Given the description of an element on the screen output the (x, y) to click on. 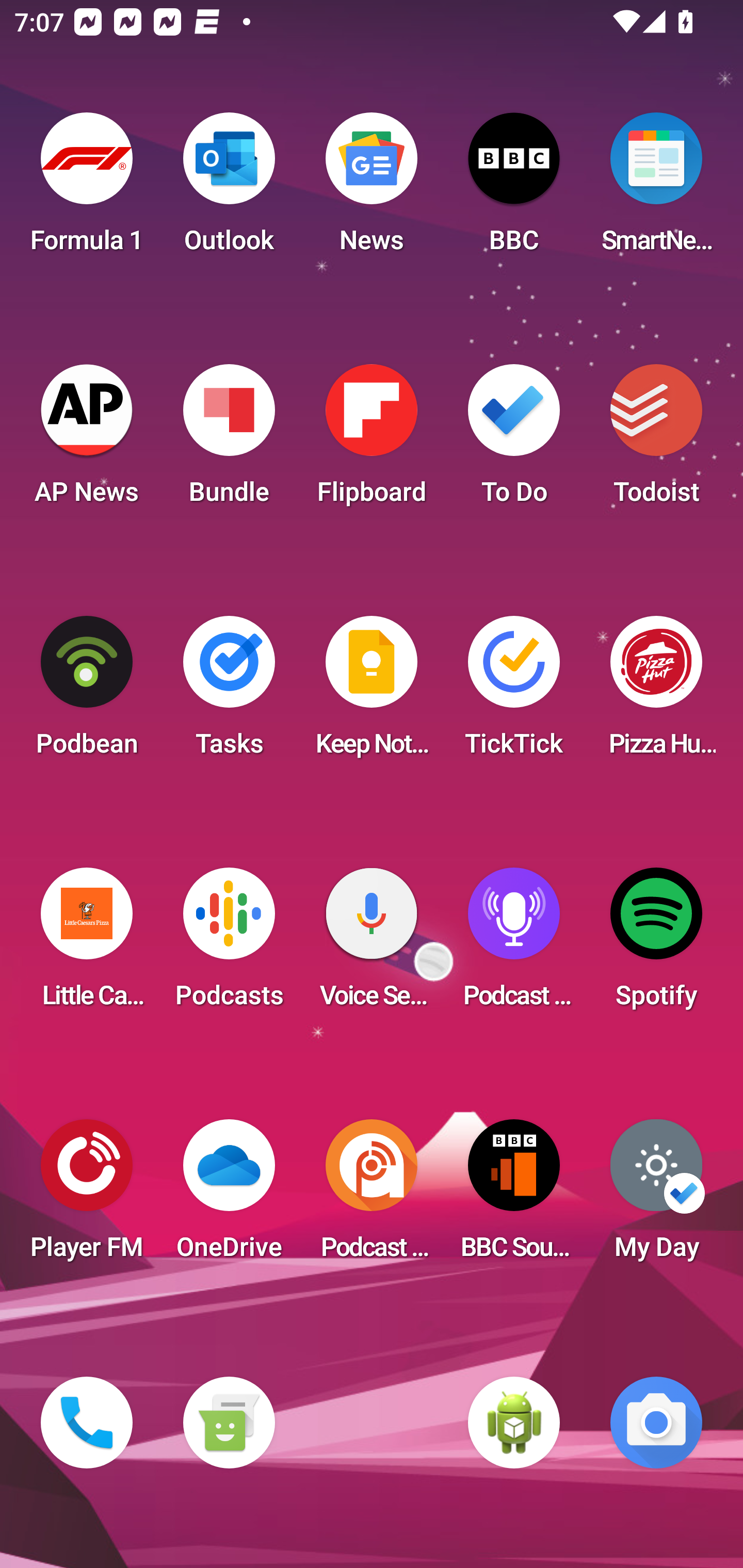
Formula 1 (86, 188)
Outlook (228, 188)
News (371, 188)
BBC (513, 188)
SmartNews (656, 188)
AP News (86, 440)
Bundle (228, 440)
Flipboard (371, 440)
To Do (513, 440)
Todoist (656, 440)
Podbean (86, 692)
Tasks (228, 692)
Keep Notes (371, 692)
TickTick (513, 692)
Pizza Hut HK & Macau (656, 692)
Little Caesars Pizza (86, 943)
Podcasts (228, 943)
Voice Search (371, 943)
Podcast Player (513, 943)
Spotify (656, 943)
Player FM (86, 1195)
OneDrive (228, 1195)
Podcast Addict (371, 1195)
BBC Sounds (513, 1195)
My Day (656, 1195)
Phone (86, 1422)
Messaging (228, 1422)
WebView Browser Tester (513, 1422)
Camera (656, 1422)
